Given the description of an element on the screen output the (x, y) to click on. 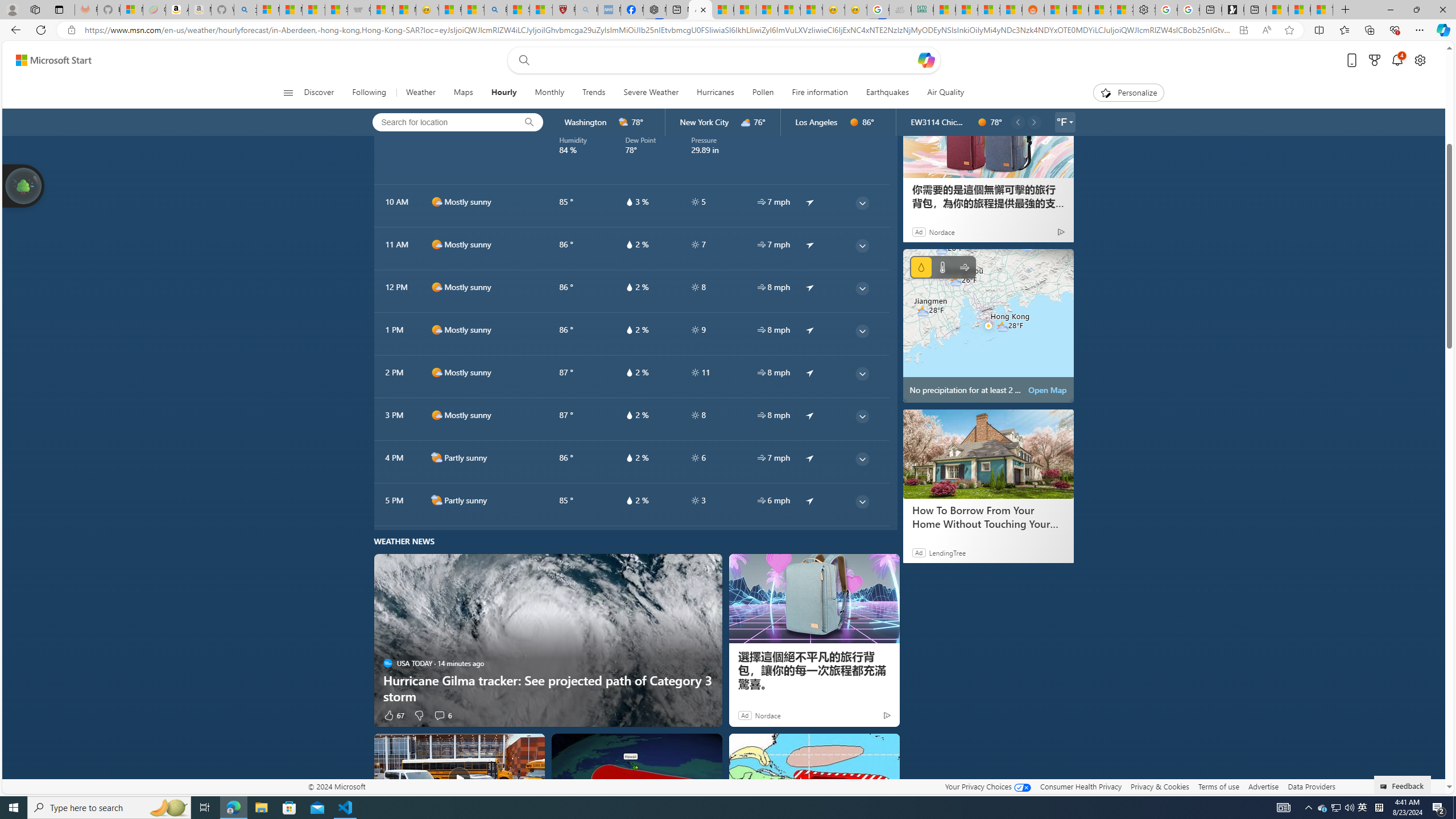
Earthquakes (888, 92)
Trends (593, 92)
hourlyTable/drop (628, 500)
Severe Weather (650, 92)
Pollen (762, 92)
common/arrow (809, 500)
